Given the description of an element on the screen output the (x, y) to click on. 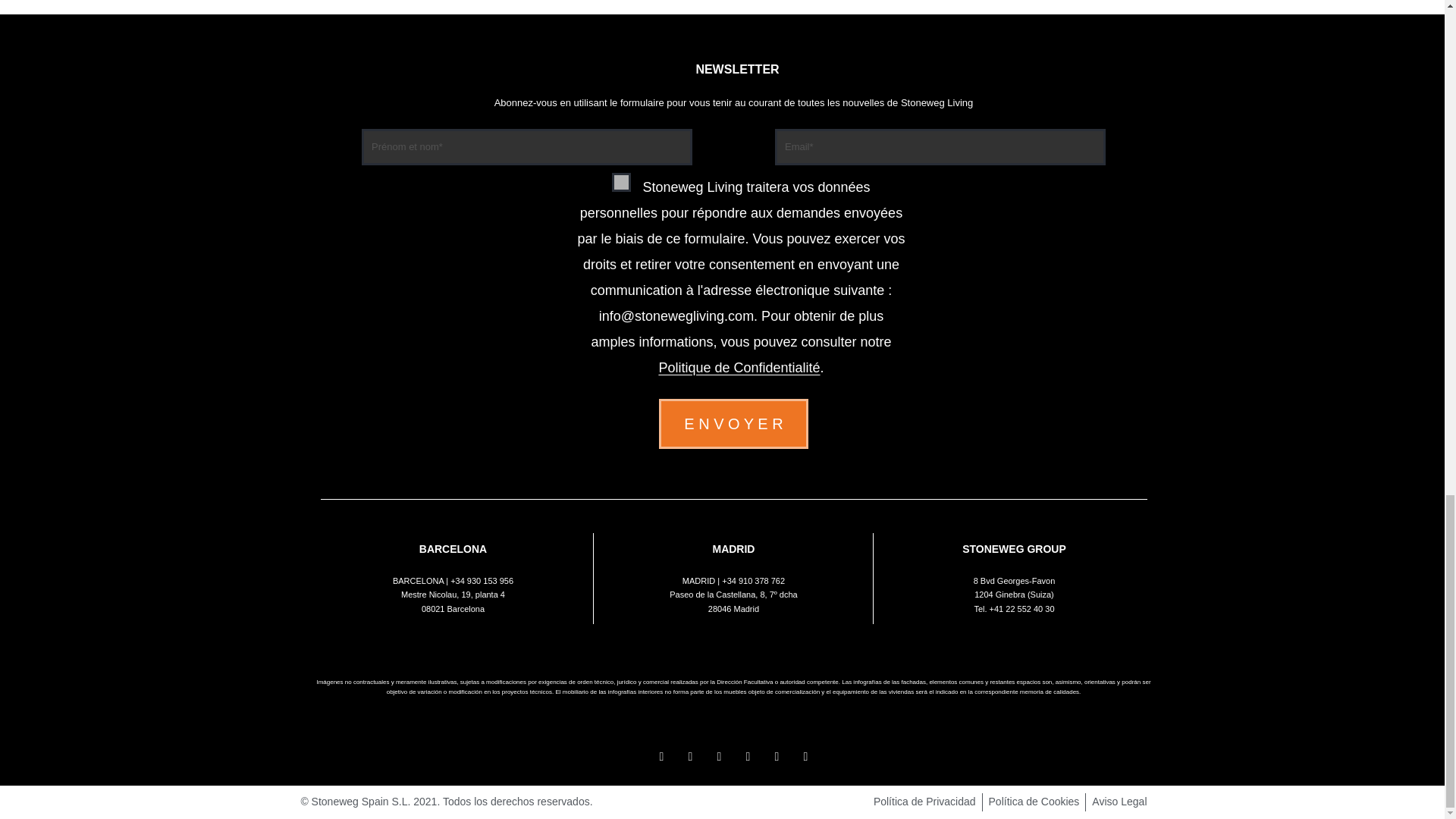
1 (620, 181)
E N V O Y E R (733, 423)
E N V O Y E R (733, 423)
